Given the description of an element on the screen output the (x, y) to click on. 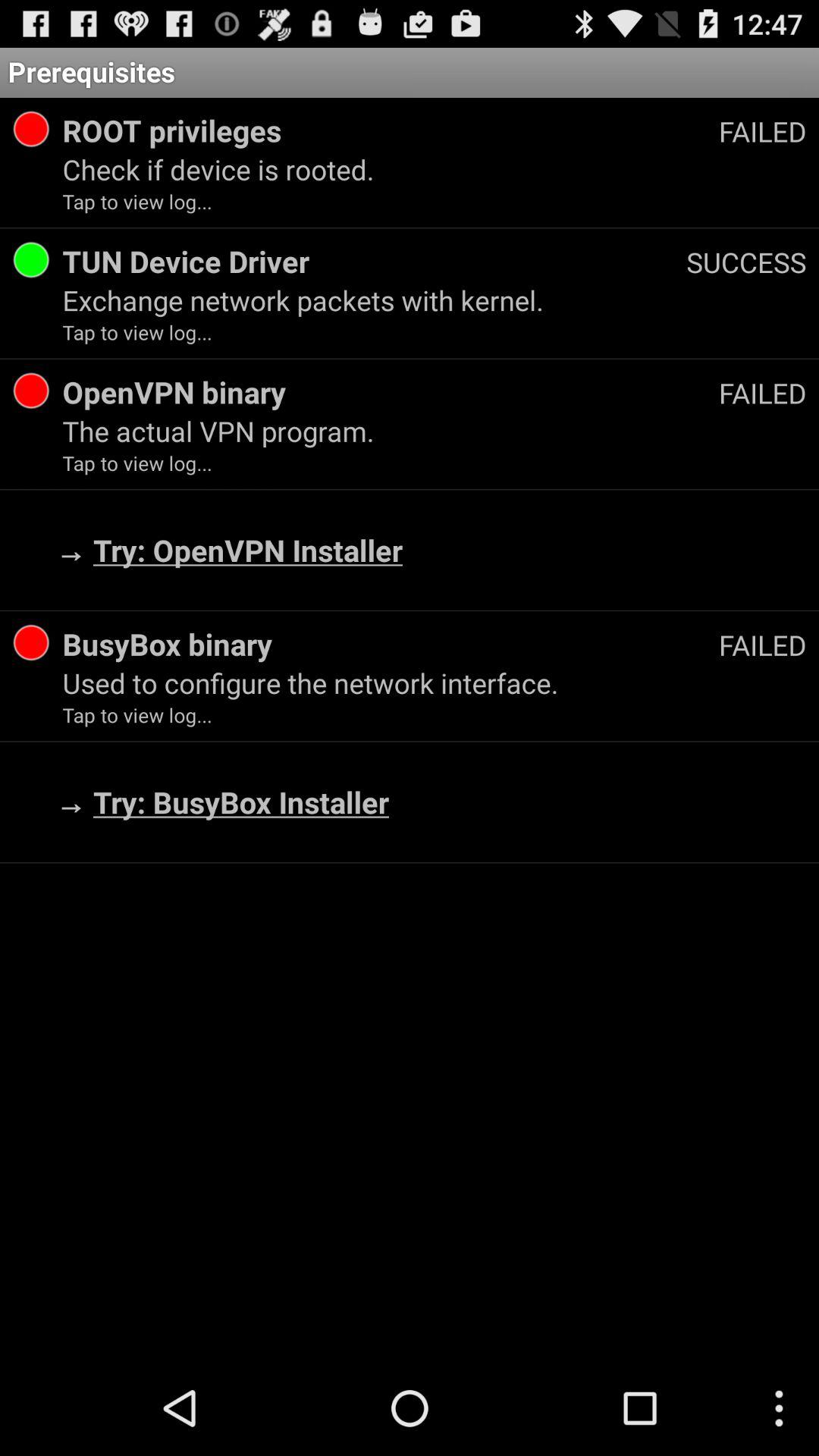
click on the last red dot (30, 642)
go to left tun device driver (30, 259)
